Given the description of an element on the screen output the (x, y) to click on. 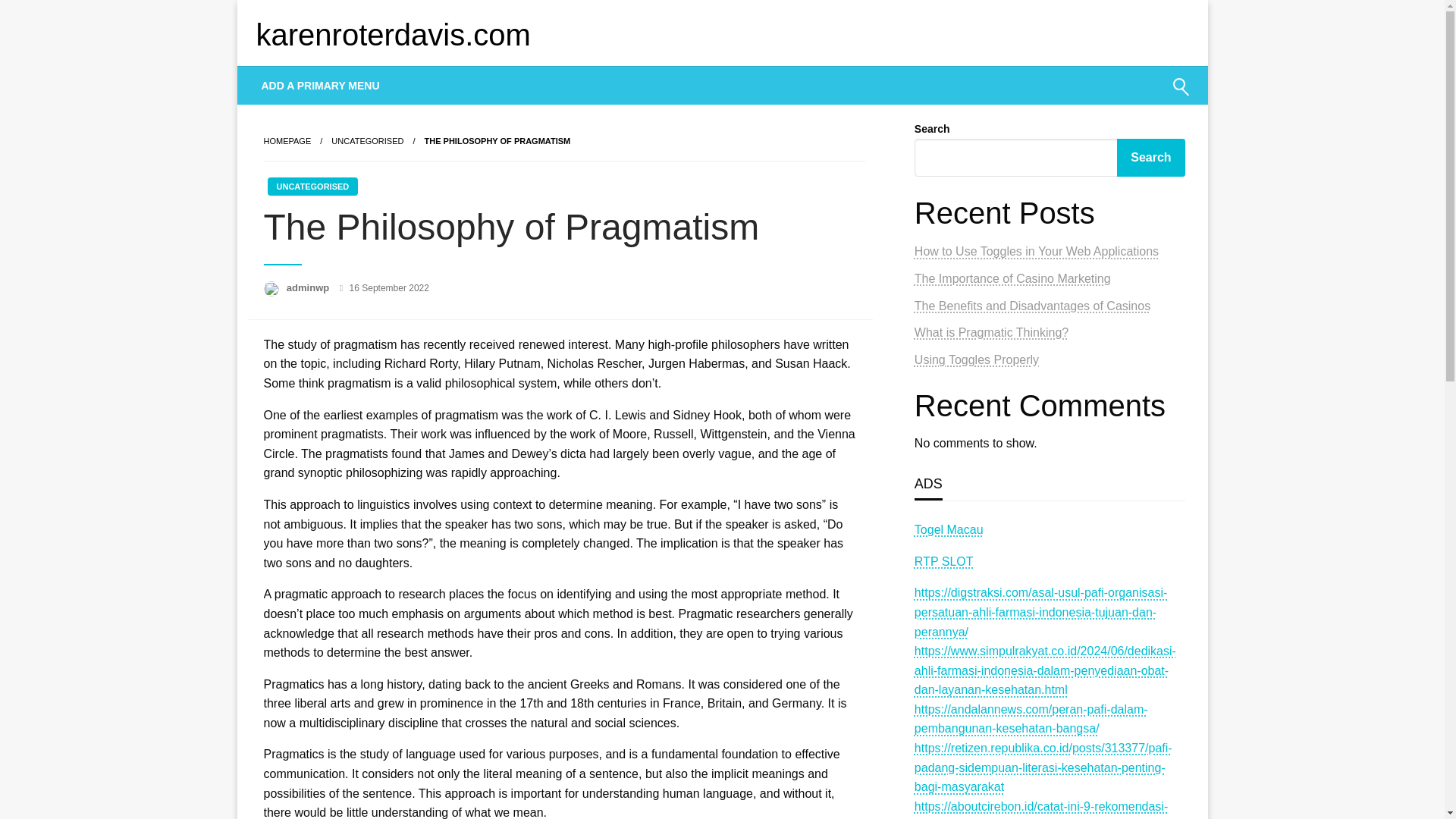
Uncategorised (367, 140)
HOMEPAGE (287, 140)
The Importance of Casino Marketing (1012, 278)
Search (1150, 157)
The Philosophy of Pragmatism (497, 140)
Search (1144, 95)
How to Use Toggles in Your Web Applications (1036, 250)
UNCATEGORISED (367, 140)
UNCATEGORISED (312, 186)
Togel Macau (949, 529)
